Given the description of an element on the screen output the (x, y) to click on. 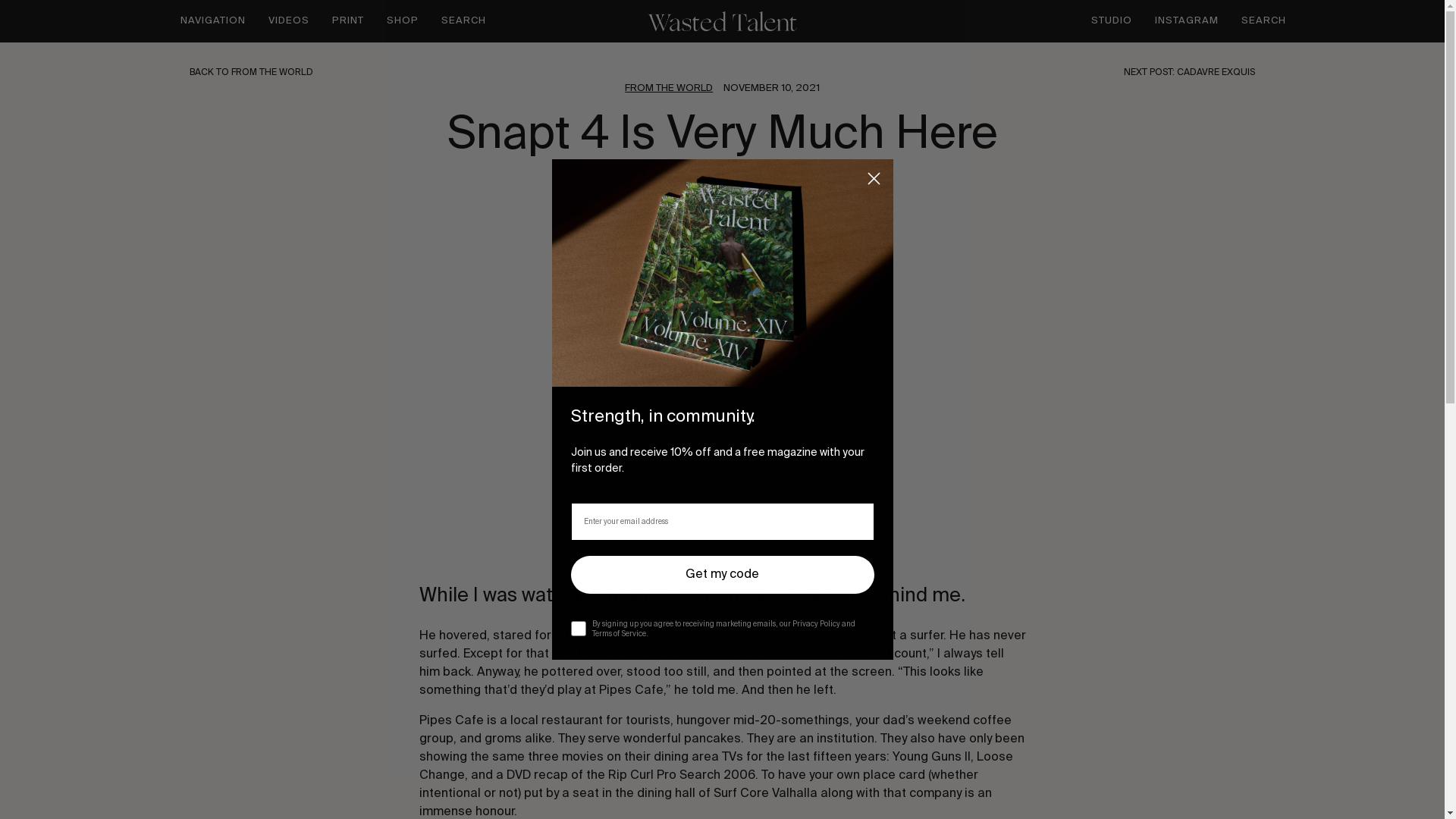
SEARCH (456, 20)
BACK TO FROM THE WORLD (454, 72)
PRINT (347, 20)
INSTAGRAM (1186, 20)
SHOP (401, 20)
Close dialog 4 (873, 178)
FROM THE WORLD (668, 88)
NAVIGATION (218, 20)
SEARCH (1257, 20)
NEXT POST: CADAVRE EXQUIS (989, 72)
VIDEOS (288, 20)
on (574, 614)
STUDIO (1116, 20)
